Given the description of an element on the screen output the (x, y) to click on. 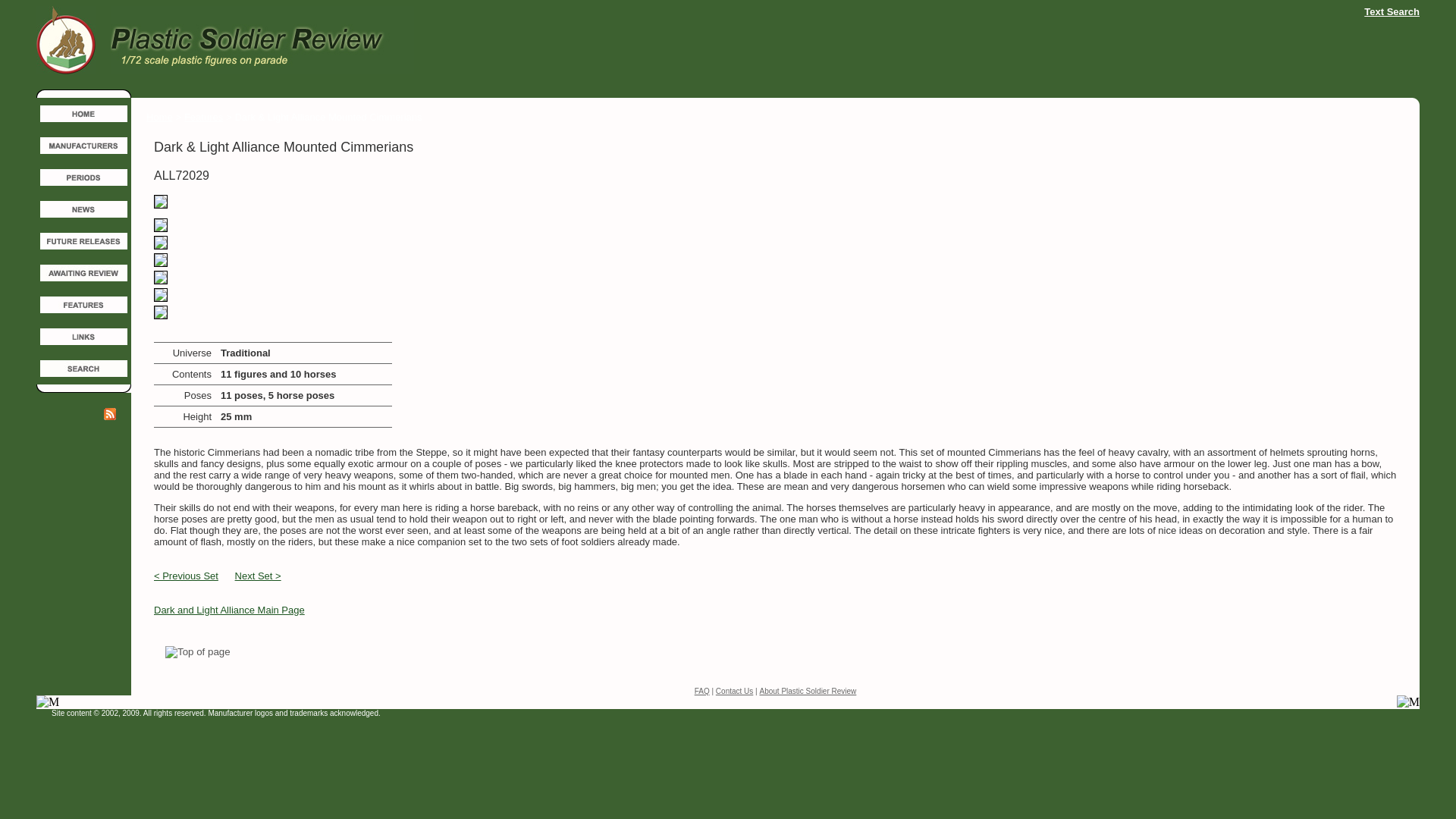
About Plastic Soldier Review (807, 691)
Text Search (1391, 11)
Features (203, 116)
FAQ (702, 691)
Home (160, 116)
Top of page (197, 652)
RSS Feed (109, 413)
Contact Us (734, 691)
Dark and Light Alliance Main Page (229, 609)
